Given the description of an element on the screen output the (x, y) to click on. 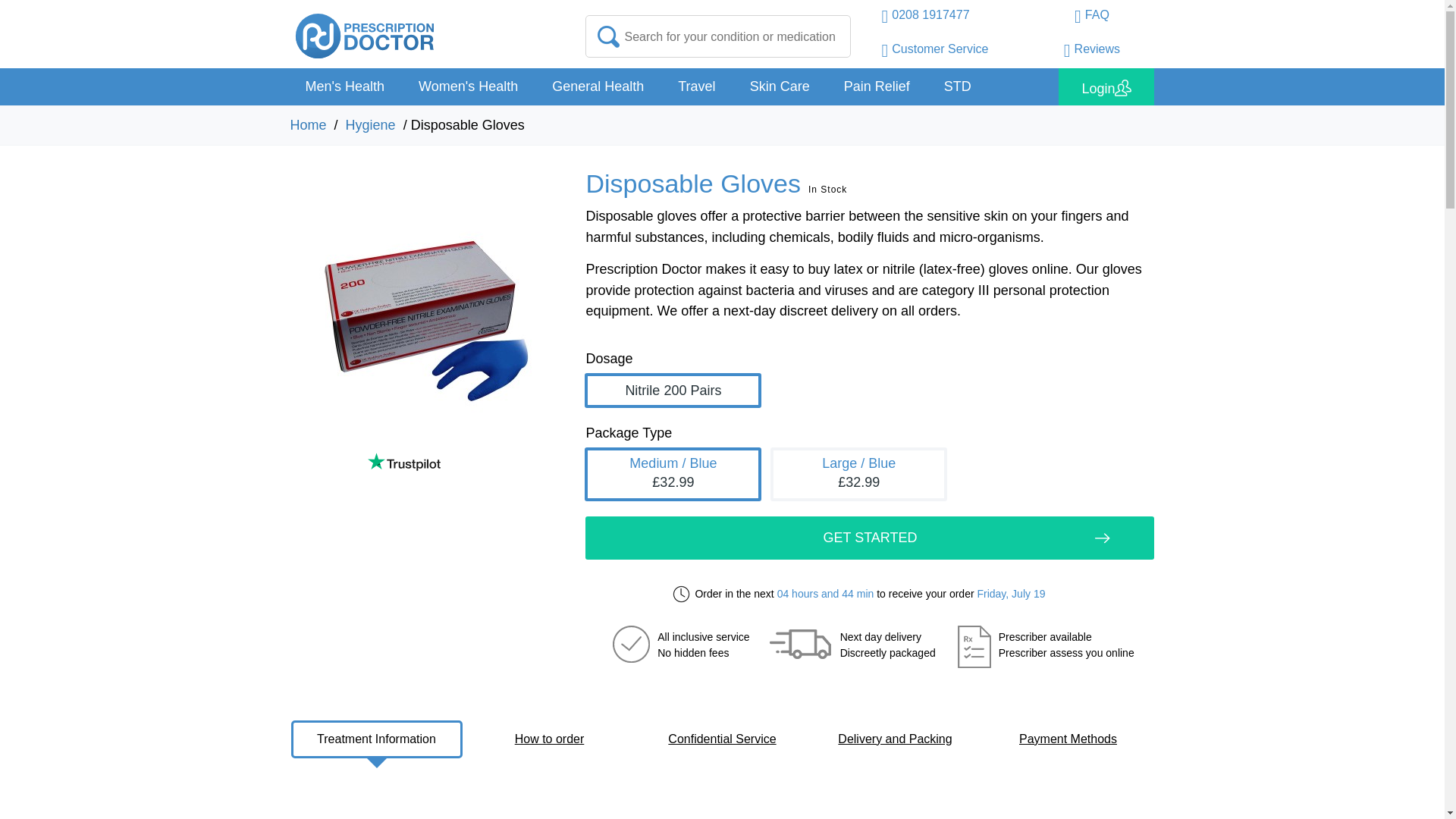
Women's Health (467, 86)
Men's Health (343, 86)
Reviews (1091, 51)
Customer Service (934, 51)
General Health (598, 86)
FAQ (1091, 18)
0208 1917477 (924, 18)
